Given the description of an element on the screen output the (x, y) to click on. 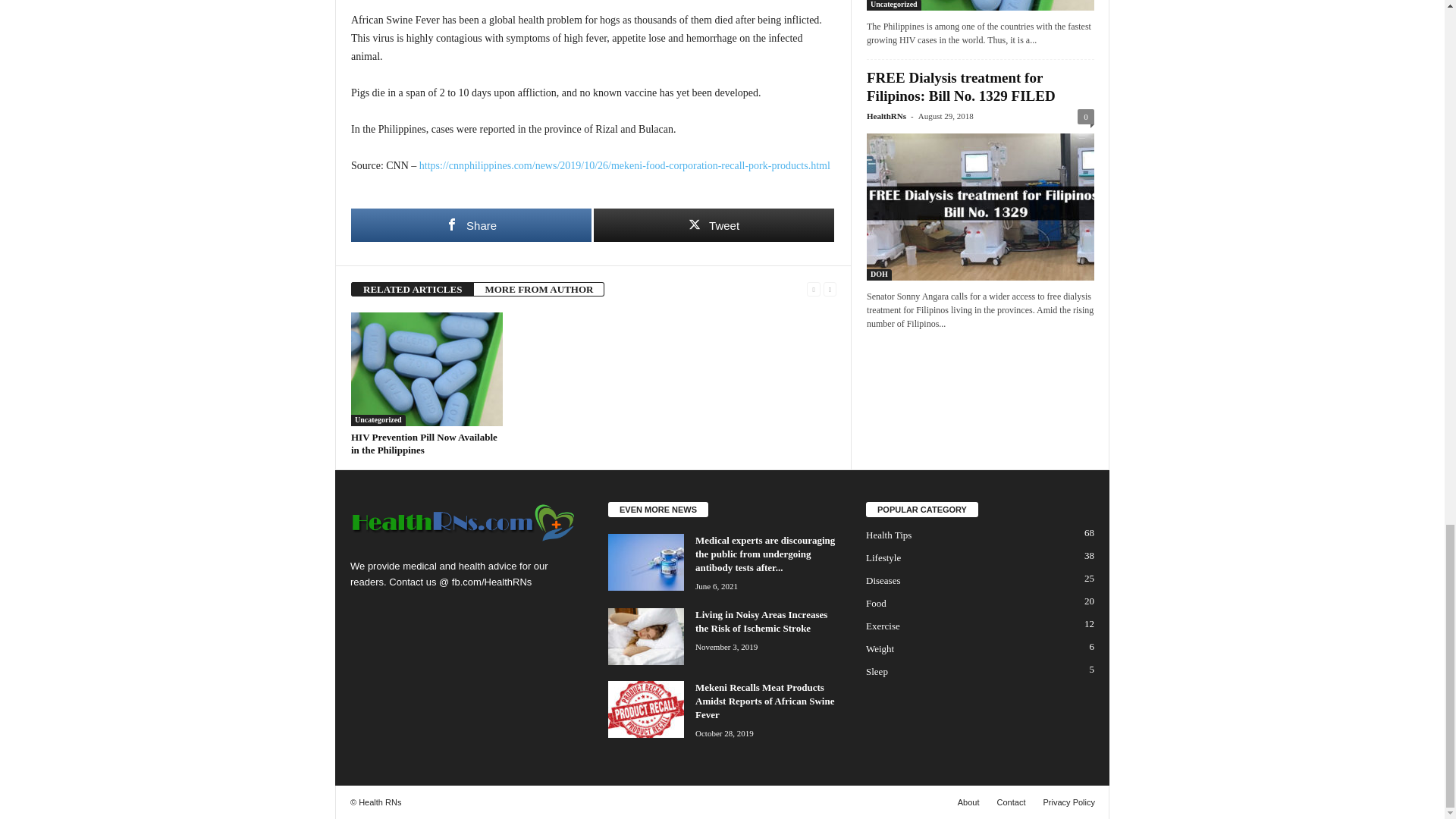
HIV Prevention Pill Now Available in the Philippines (426, 368)
Tweet (714, 224)
MORE FROM AUTHOR (539, 288)
RELATED ARTICLES (412, 288)
Share (470, 224)
HIV Prevention Pill Now Available in the Philippines (423, 443)
HIV Prevention Pill Now Available in the Philippines (423, 443)
Uncategorized (378, 419)
